Given the description of an element on the screen output the (x, y) to click on. 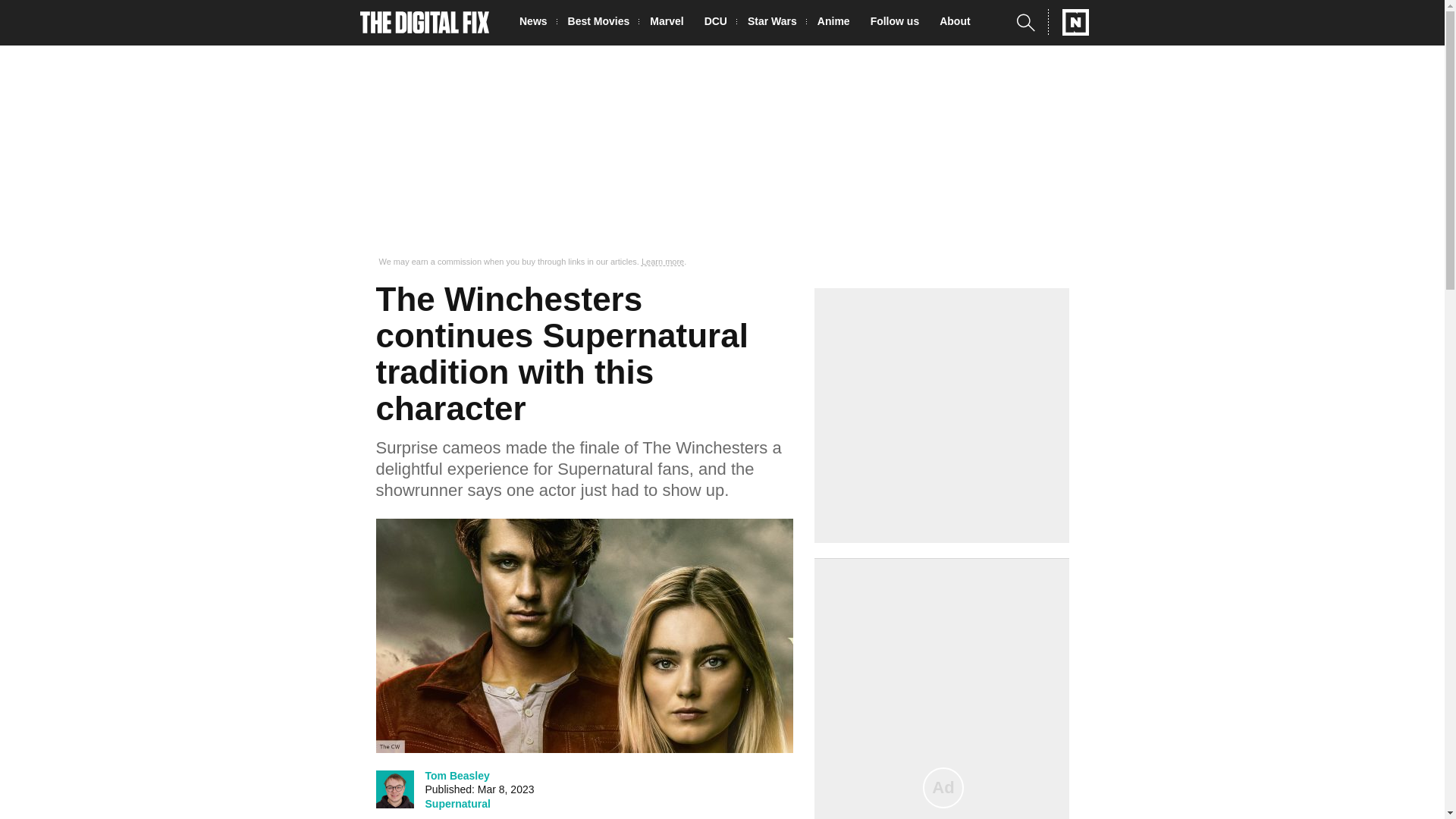
Supernatural (457, 803)
Anime News (837, 22)
Follow us (899, 22)
The Digital Fix (424, 22)
Star Wars News (777, 22)
Marvel (671, 22)
Star Wars (777, 22)
Anime (837, 22)
Tom Beasley (457, 775)
Learn more (663, 261)
